Given the description of an element on the screen output the (x, y) to click on. 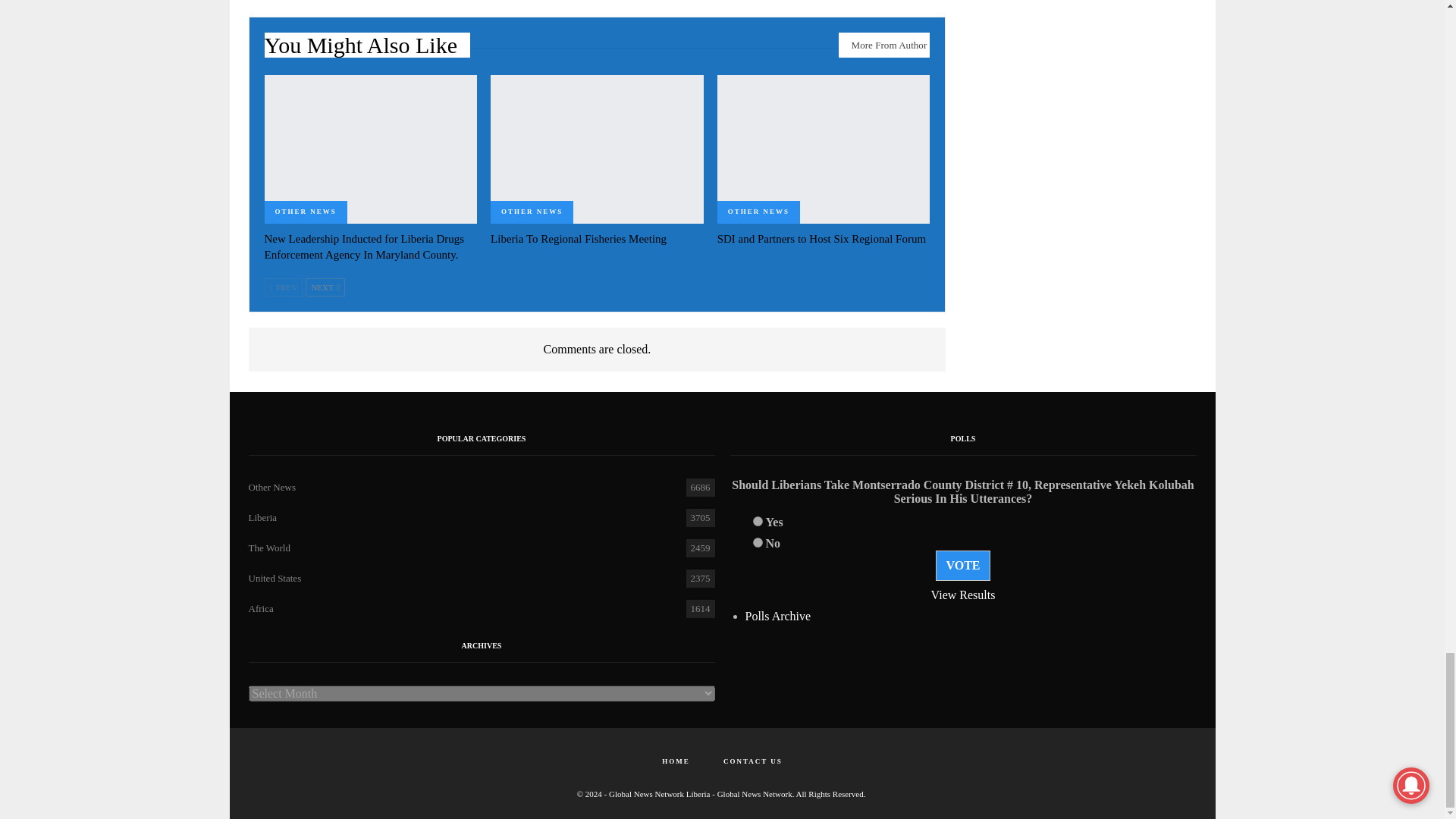
Liberia To Regional Fisheries Meeting (578, 238)
Liberia To Regional Fisheries Meeting (596, 149)
View Results Of This Poll (963, 594)
Next (325, 287)
377 (756, 542)
You Might Also Like (366, 48)
376 (756, 521)
   Vote    (963, 565)
SDI and Partners to Host Six Regional Forum (823, 149)
SDI and Partners to Host Six Regional Forum (821, 238)
OTHER NEWS (304, 211)
Previous (282, 287)
OTHER NEWS (531, 211)
